Given the description of an element on the screen output the (x, y) to click on. 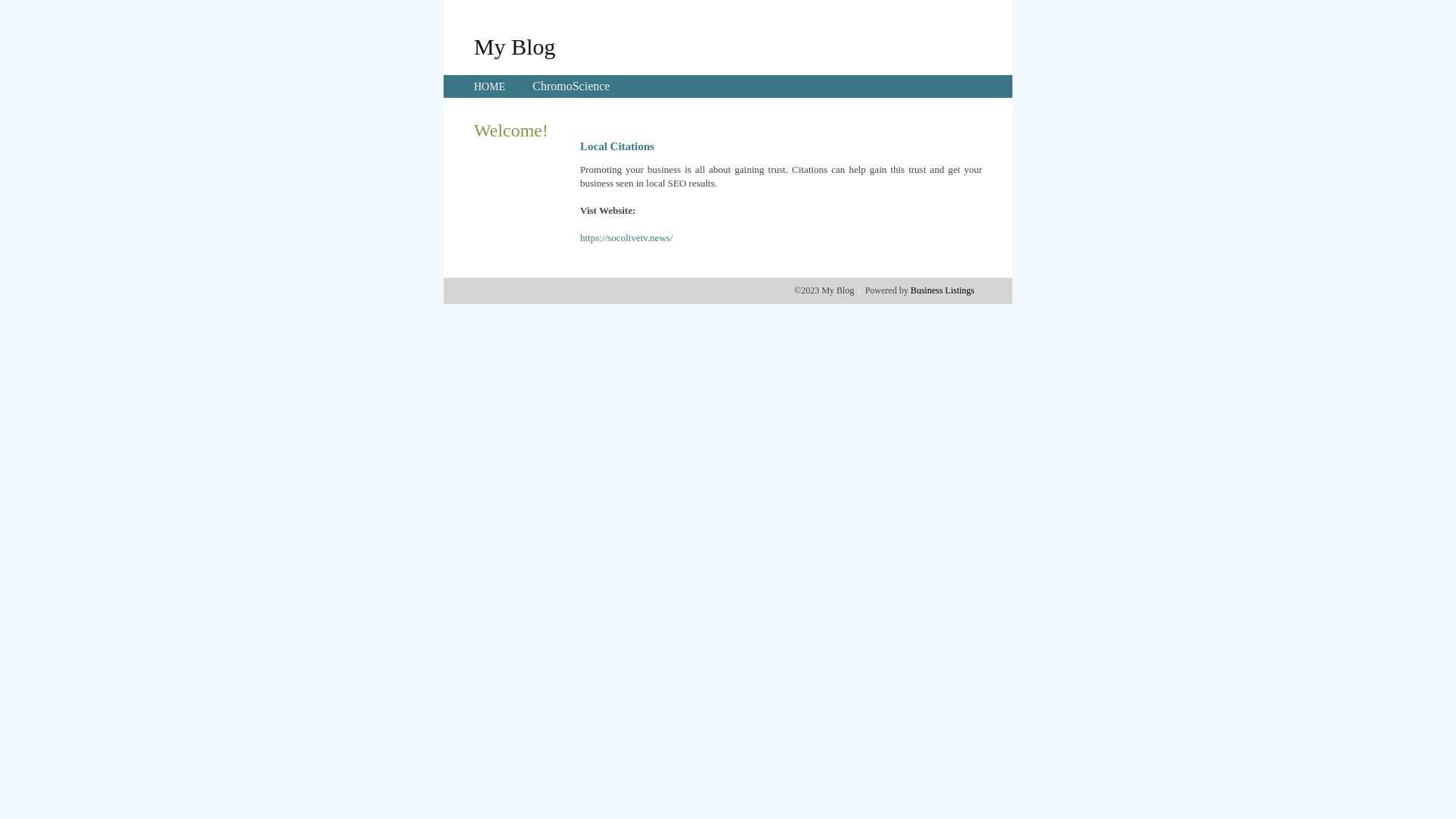
Business Listings Element type: text (942, 290)
HOME Element type: text (489, 86)
ChromoScience Element type: text (570, 85)
My Blog Element type: text (514, 46)
https://socolivetv.news/ Element type: text (626, 237)
